Given the description of an element on the screen output the (x, y) to click on. 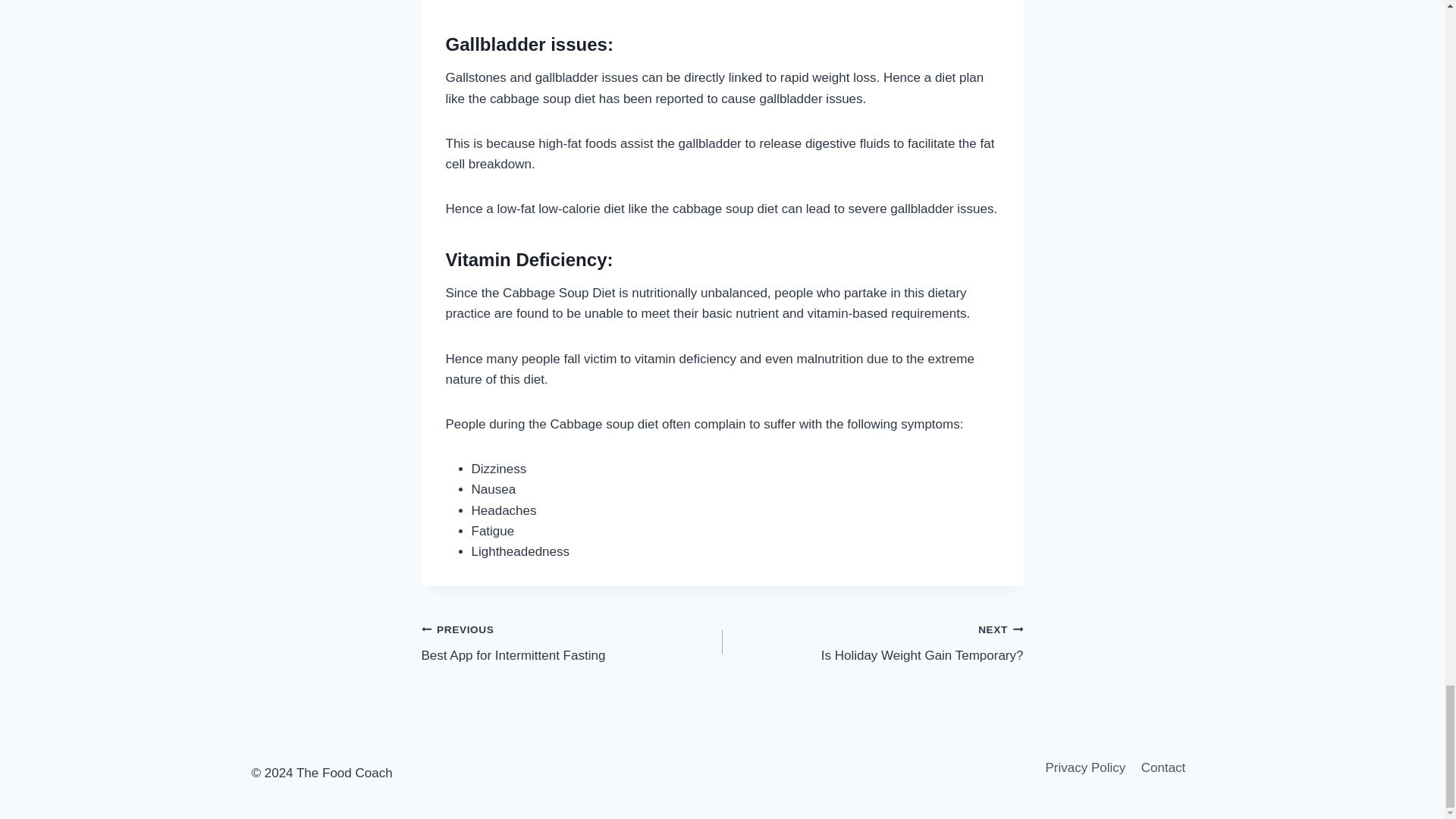
Contact (1163, 767)
Privacy Policy (872, 642)
